Given the description of an element on the screen output the (x, y) to click on. 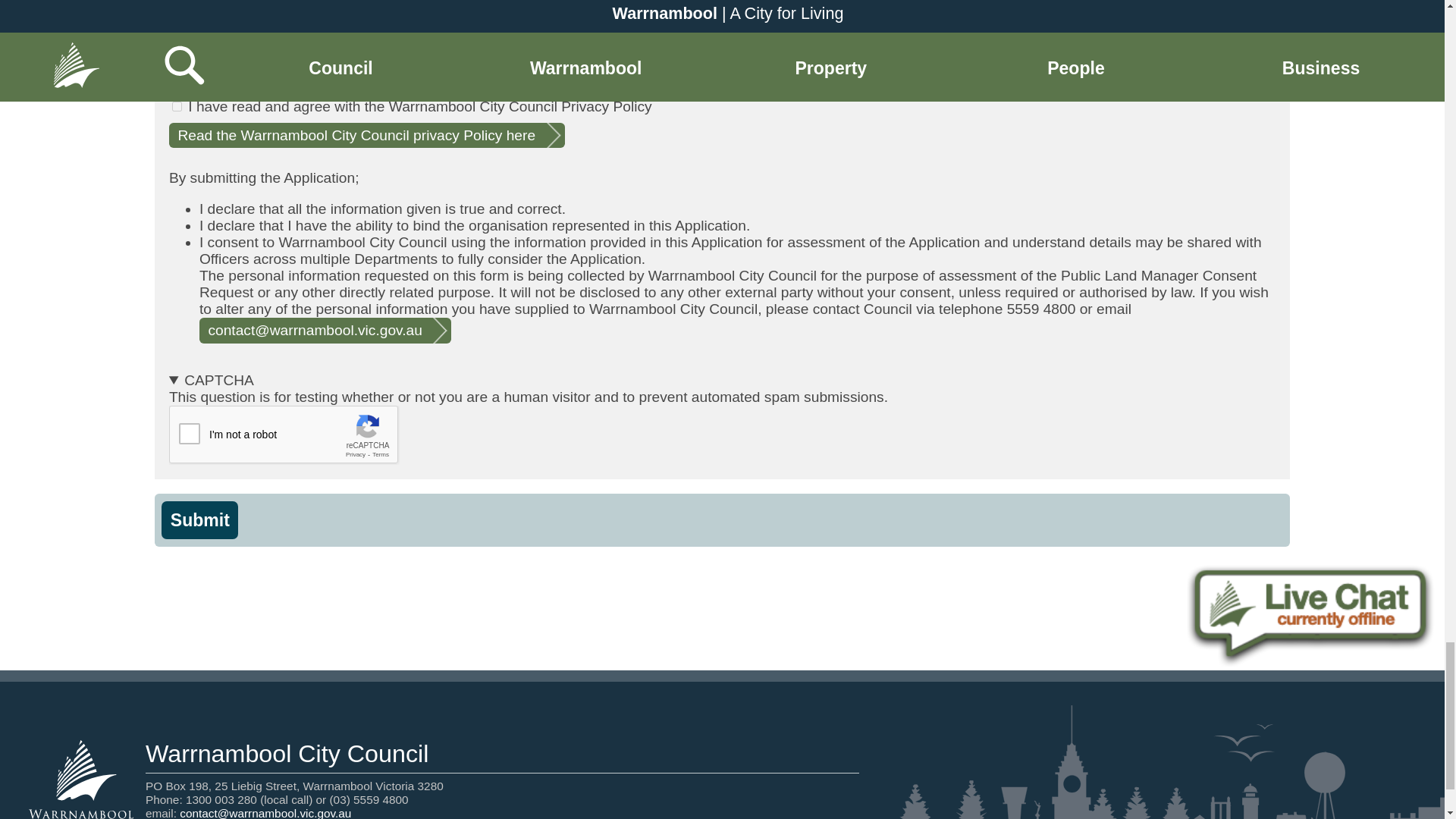
1 (176, 106)
Submit (199, 519)
reCAPTCHA (283, 435)
